Given the description of an element on the screen output the (x, y) to click on. 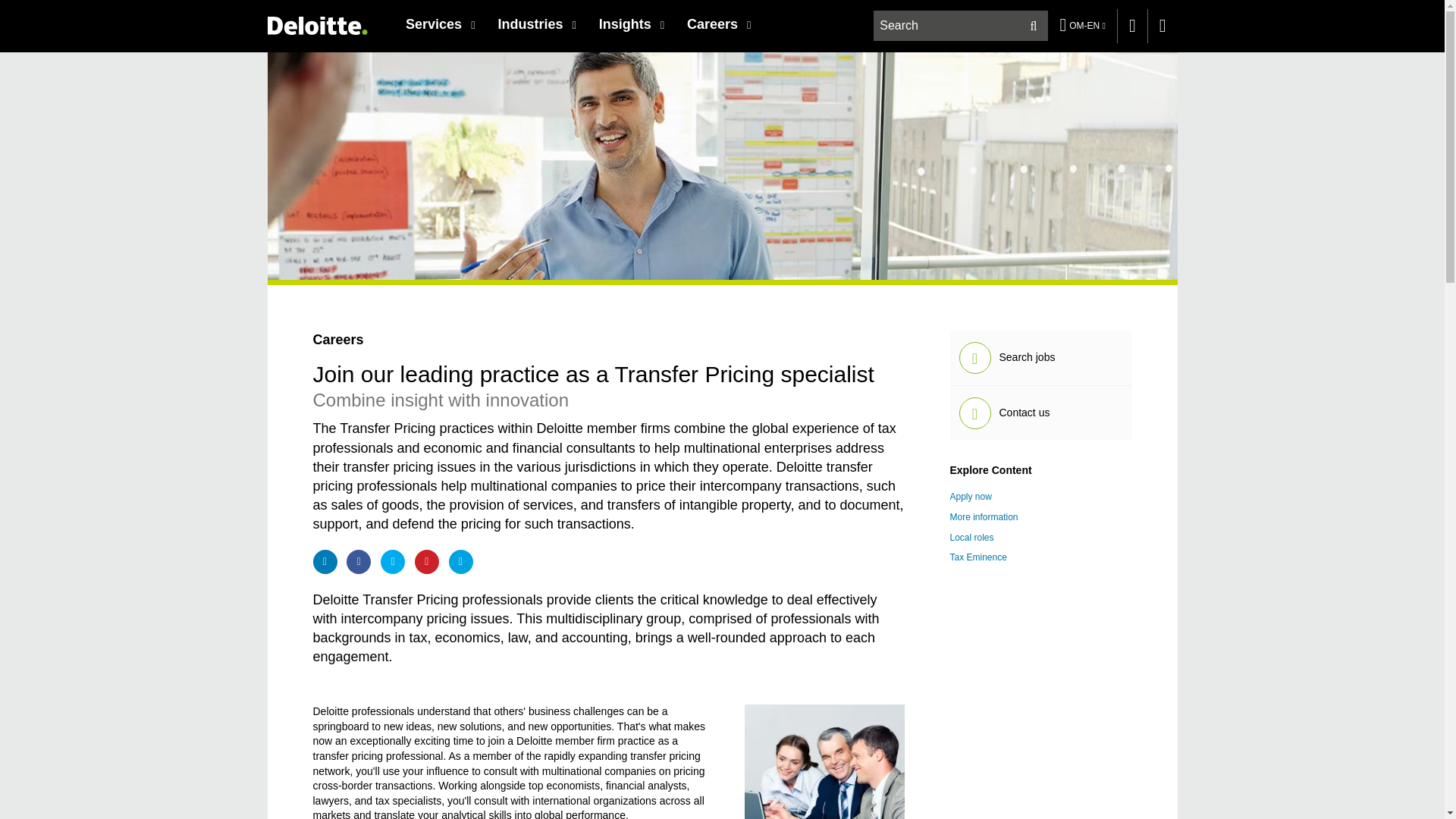
Deloitte Oman (316, 25)
Share on Twitter (392, 560)
Search (1033, 25)
Join My Deloitte (1162, 25)
Contact us (1132, 25)
Share on Facebook (358, 560)
Share on LinkedIn (324, 560)
Share by email (460, 560)
Industries (536, 24)
search (961, 25)
Share on Pinterest (426, 560)
Services (440, 24)
